Given the description of an element on the screen output the (x, y) to click on. 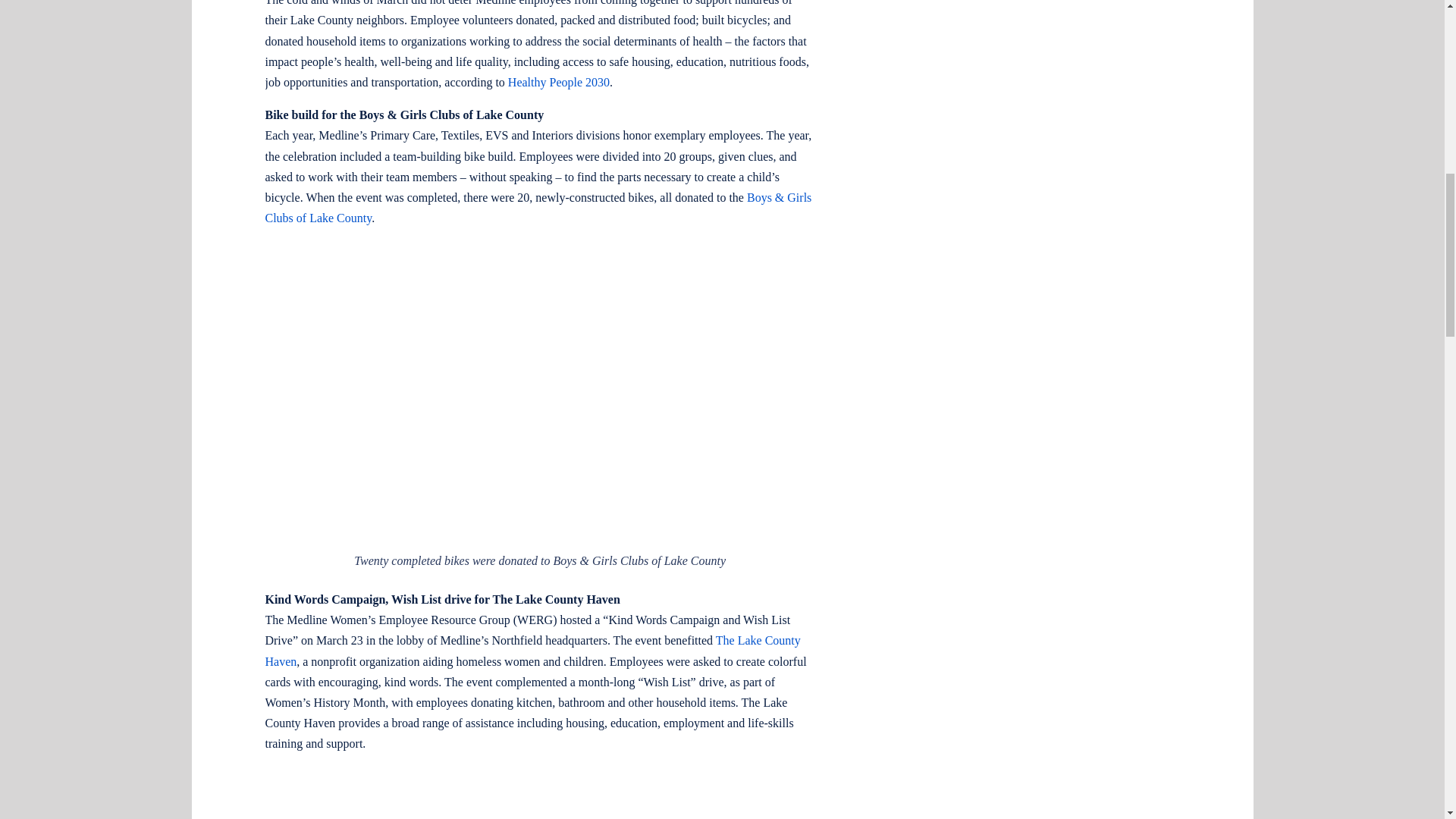
The Lake County Haven benefits homeless women and children (548, 802)
TheLakeCountyHaven (540, 802)
newsroom-featured-image-and-social-template (540, 404)
